Given the description of an element on the screen output the (x, y) to click on. 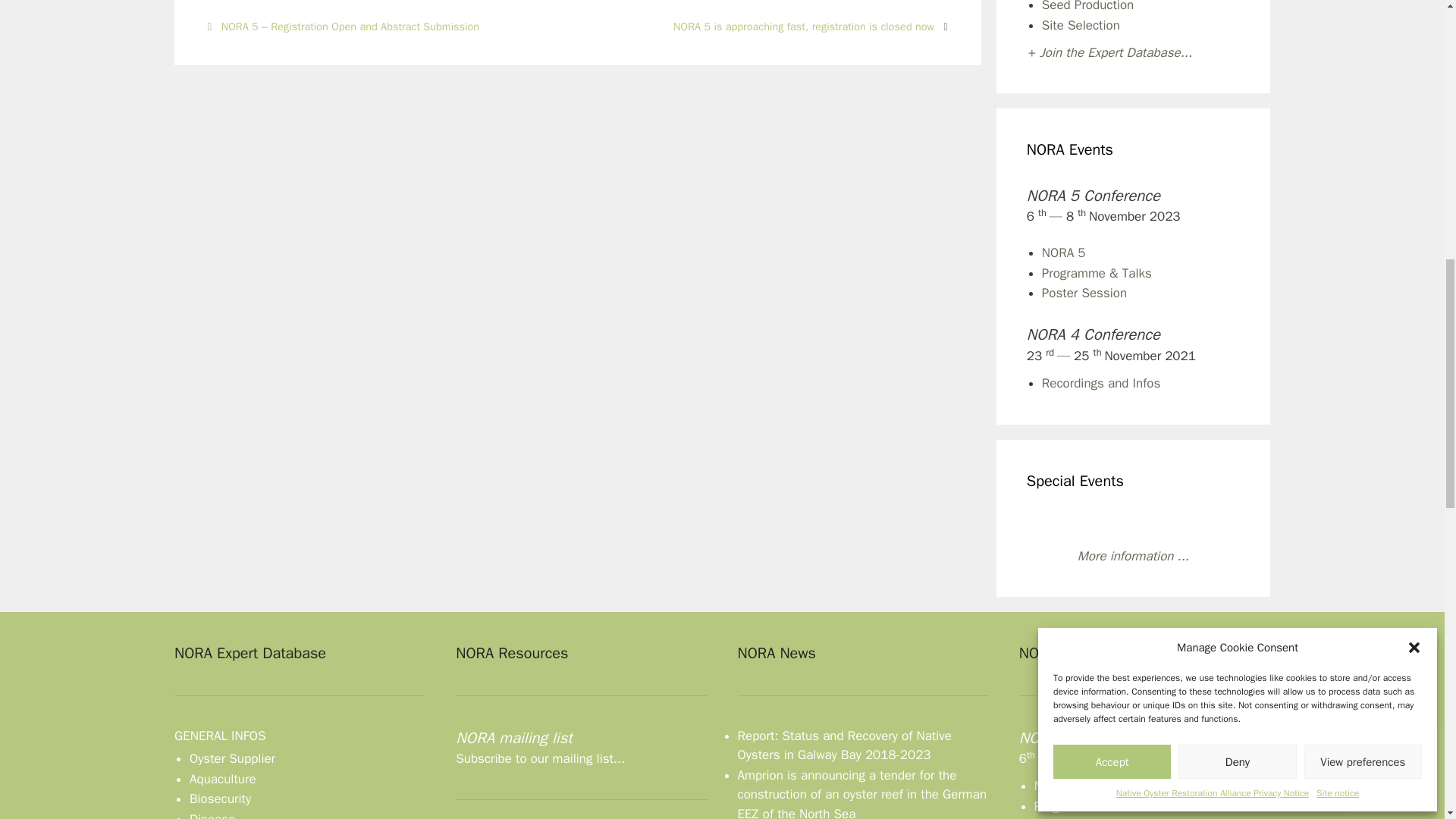
Scroll back to top (1406, 720)
